Given the description of an element on the screen output the (x, y) to click on. 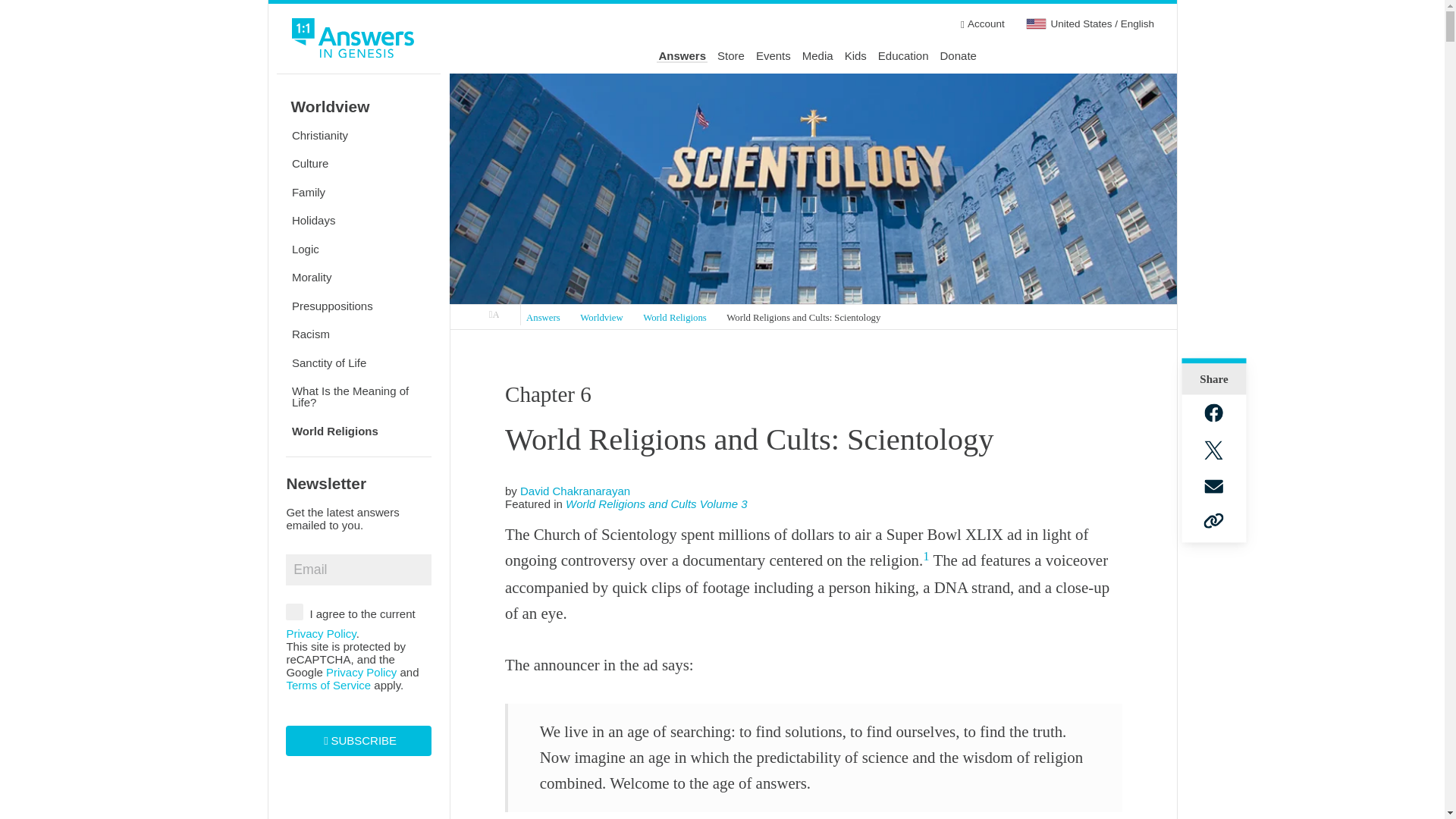
Kids (855, 55)
David Chakranarayan (574, 490)
Answers (543, 318)
World Religions and Cults Volume 3 (657, 503)
Answers in Genesis (494, 314)
World Religions (674, 318)
World Religions and Cults: Scientology (802, 318)
Events (772, 55)
Answers in Genesis Home (353, 40)
Store (731, 55)
Store (731, 55)
Media (817, 55)
Worldview (602, 318)
Answers (681, 55)
